Given the description of an element on the screen output the (x, y) to click on. 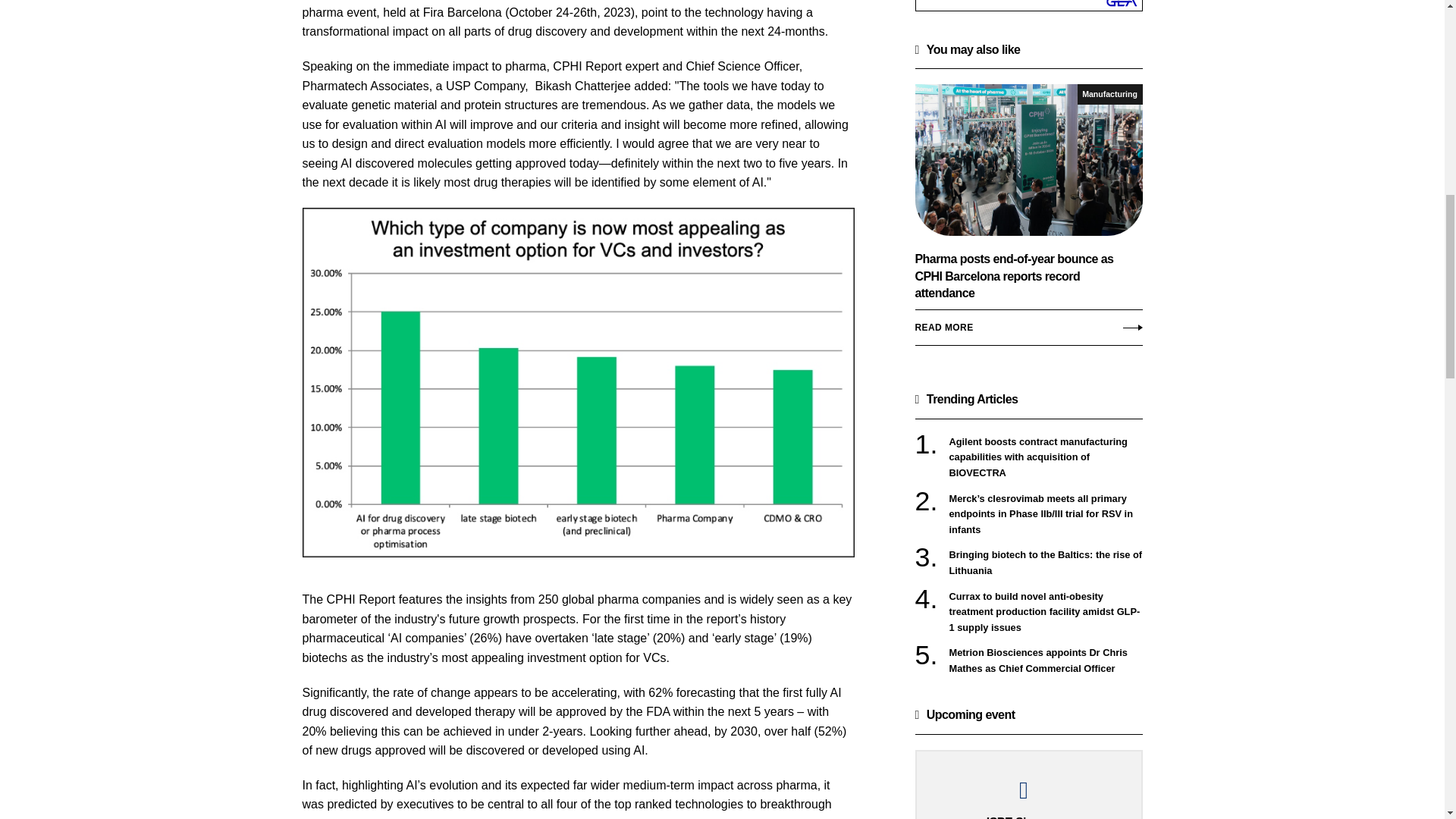
Bringing biotech to the Baltics: the rise of Lithuania (1045, 562)
Manufacturing (1109, 94)
